Given the description of an element on the screen output the (x, y) to click on. 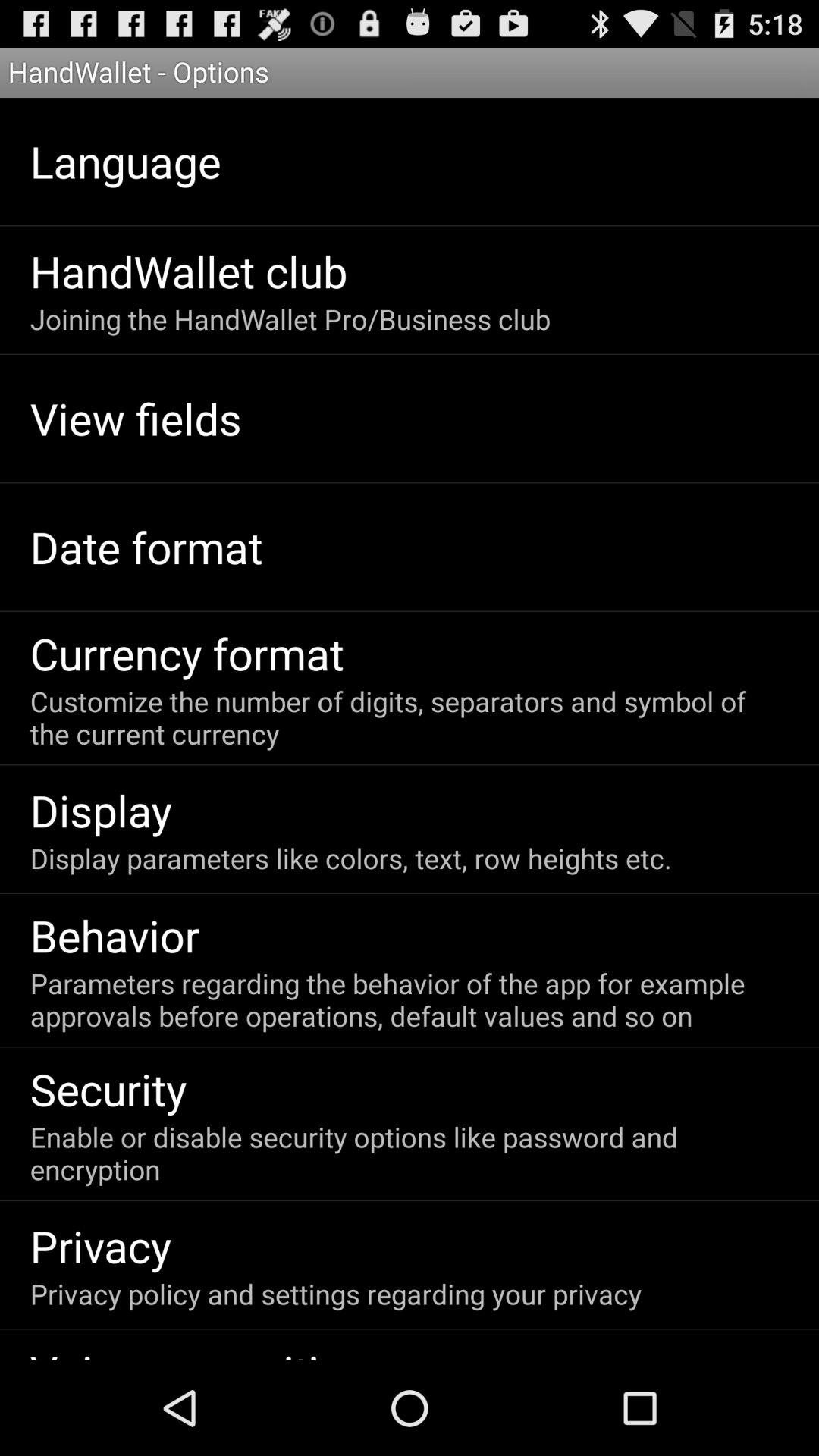
open item above the voice recognition icon (335, 1293)
